Given the description of an element on the screen output the (x, y) to click on. 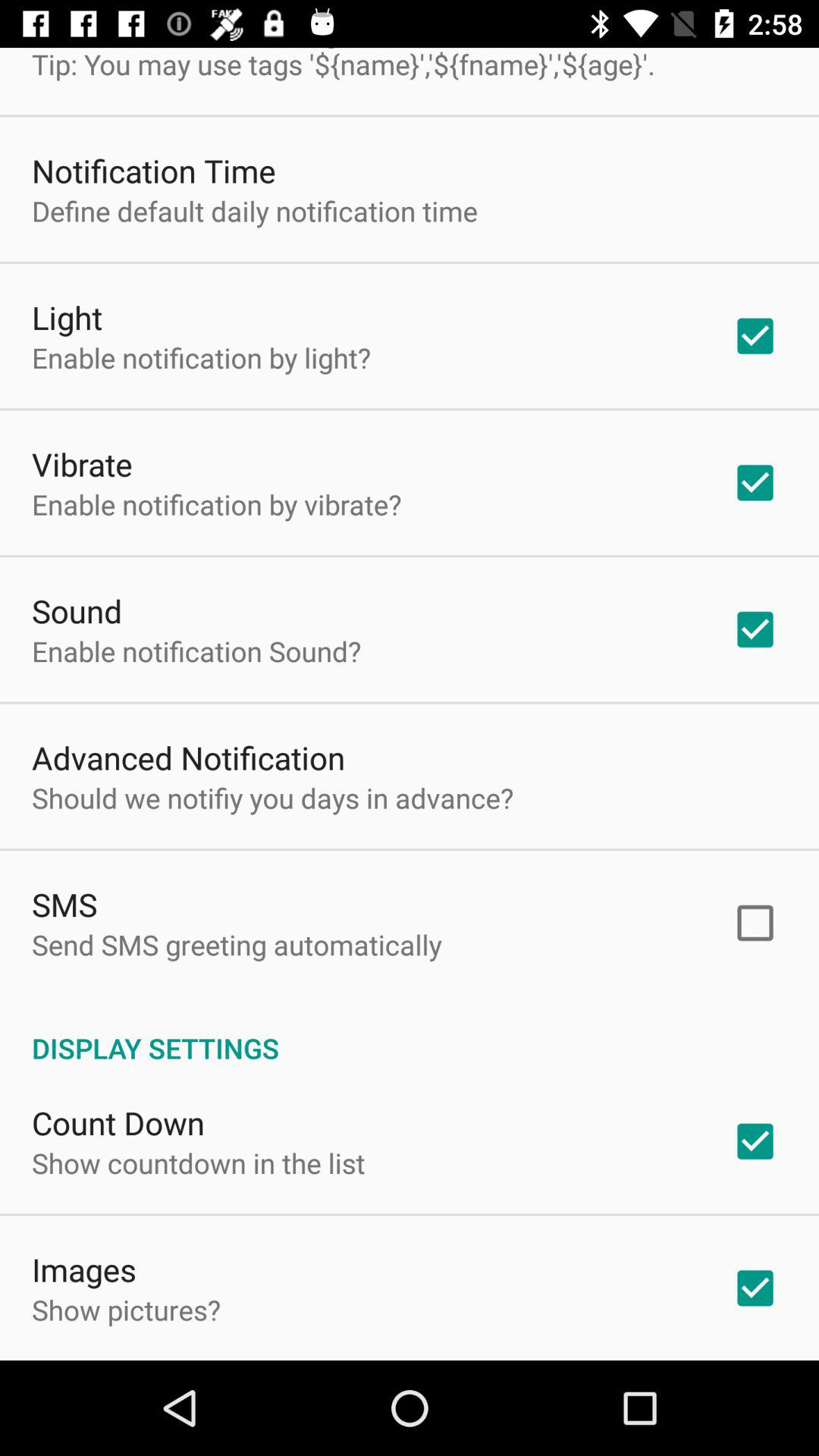
choose the app above the should we notifiy item (188, 757)
